Given the description of an element on the screen output the (x, y) to click on. 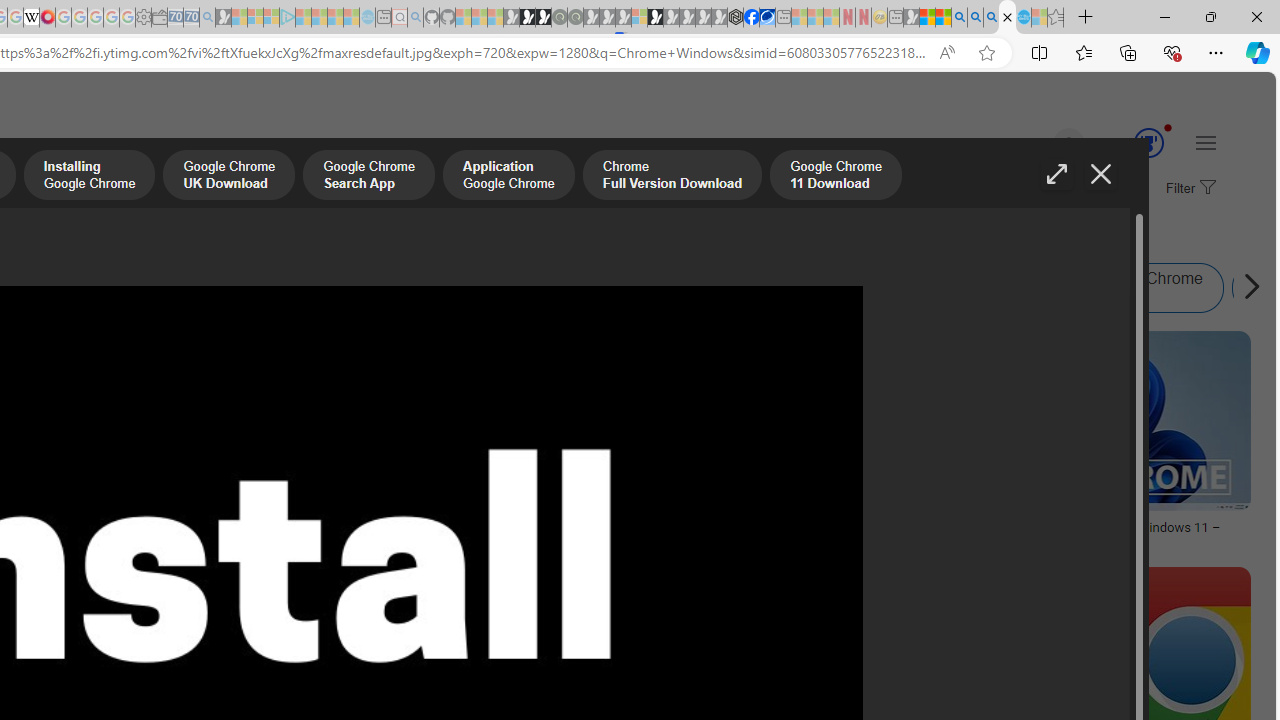
Microsoft Rewards 84 (1130, 143)
Close image (1100, 173)
1:46 (637, 349)
Install Google Chrome Browser (276, 287)
Google Chrome Search App (368, 177)
2009 Bing officially replaced Live Search on June 3 - Search (975, 17)
Target page - Wikipedia (31, 17)
